Given the description of an element on the screen output the (x, y) to click on. 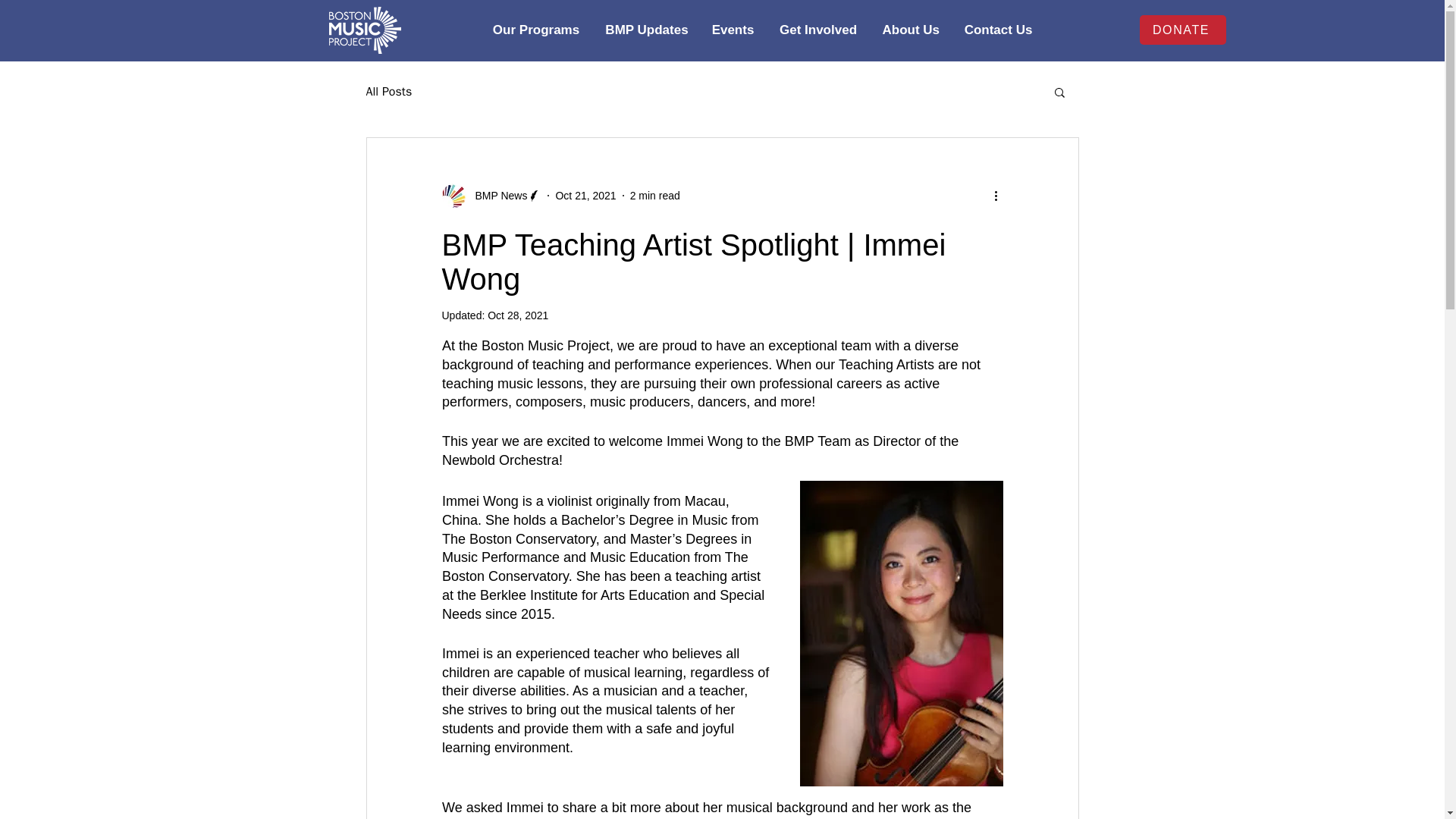
Contact Us (998, 30)
Oct 21, 2021 (584, 195)
Get Involved (817, 30)
About Us (910, 30)
2 min read (654, 195)
BMP Updates (646, 30)
BMP News (491, 195)
BMP News (496, 195)
All Posts (388, 91)
DONATE (1181, 30)
